Given the description of an element on the screen output the (x, y) to click on. 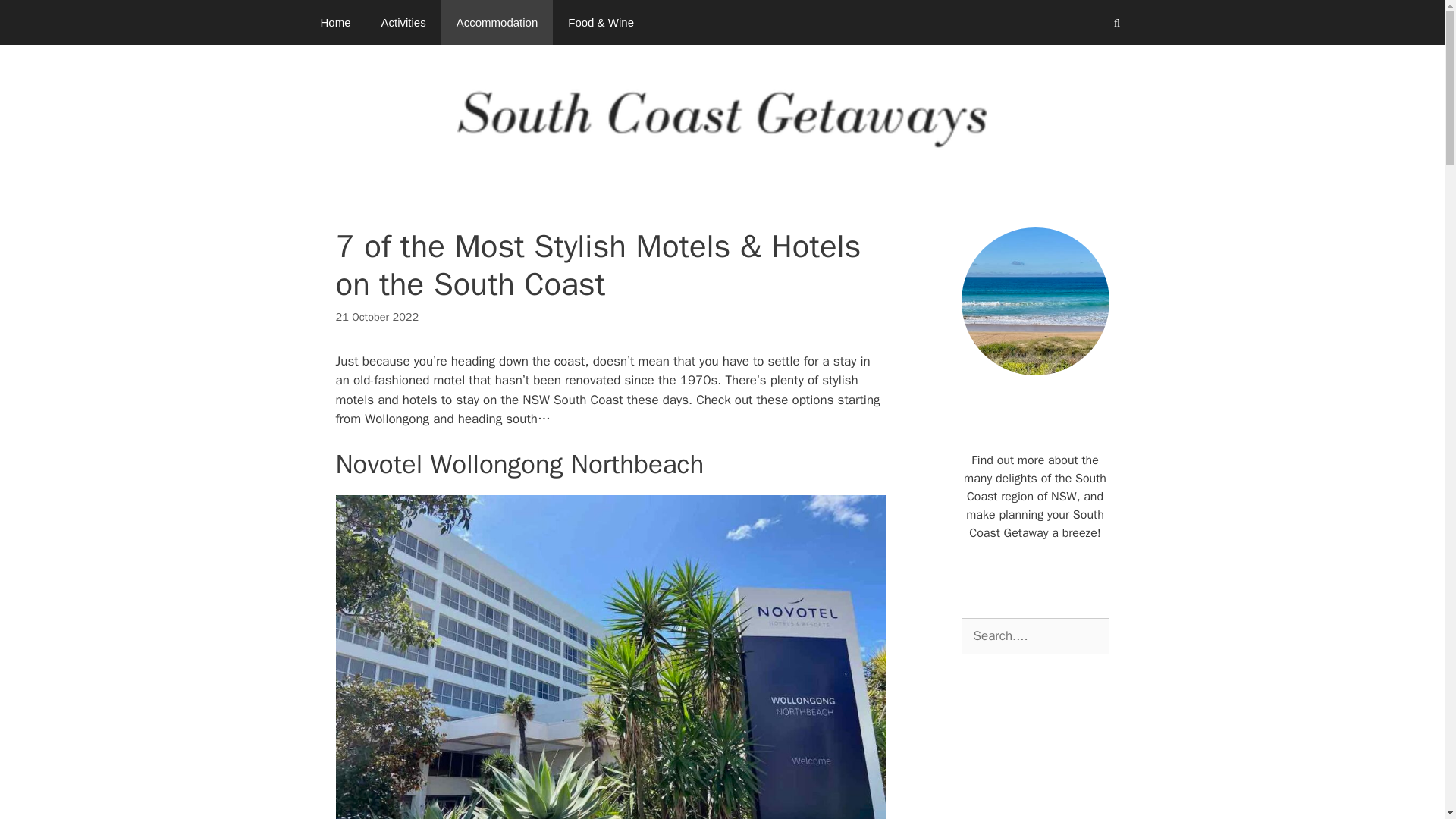
Accommodation (497, 22)
Home (334, 22)
Activities (403, 22)
